Given the description of an element on the screen output the (x, y) to click on. 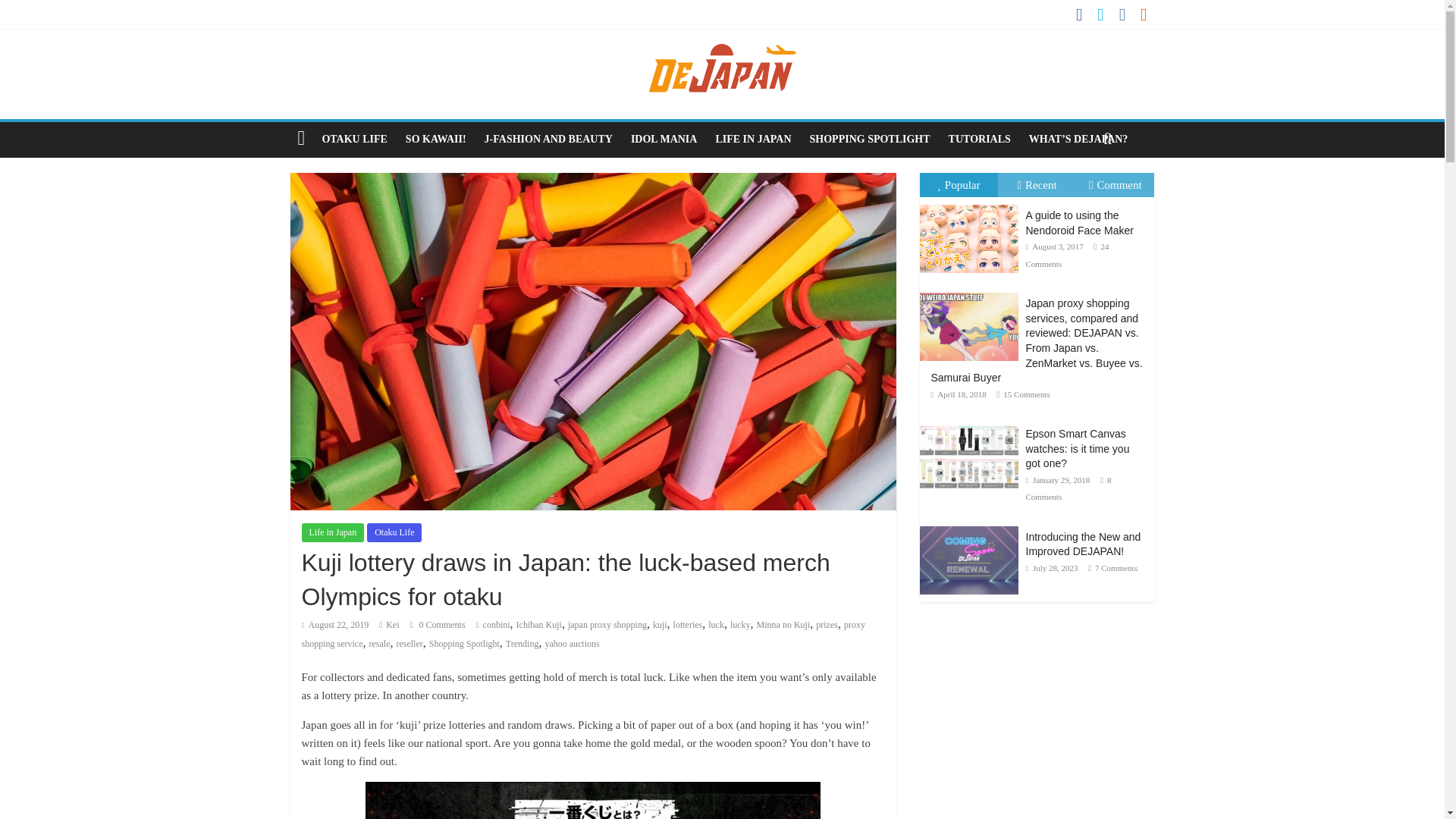
luck (715, 624)
TUTORIALS (979, 139)
SO KAWAII! (436, 139)
Ichiban Kuji (539, 624)
reseller (409, 643)
Kei (391, 624)
lotteries (687, 624)
lucky (740, 624)
Life in Japan (333, 532)
00:00 (335, 624)
